Given the description of an element on the screen output the (x, y) to click on. 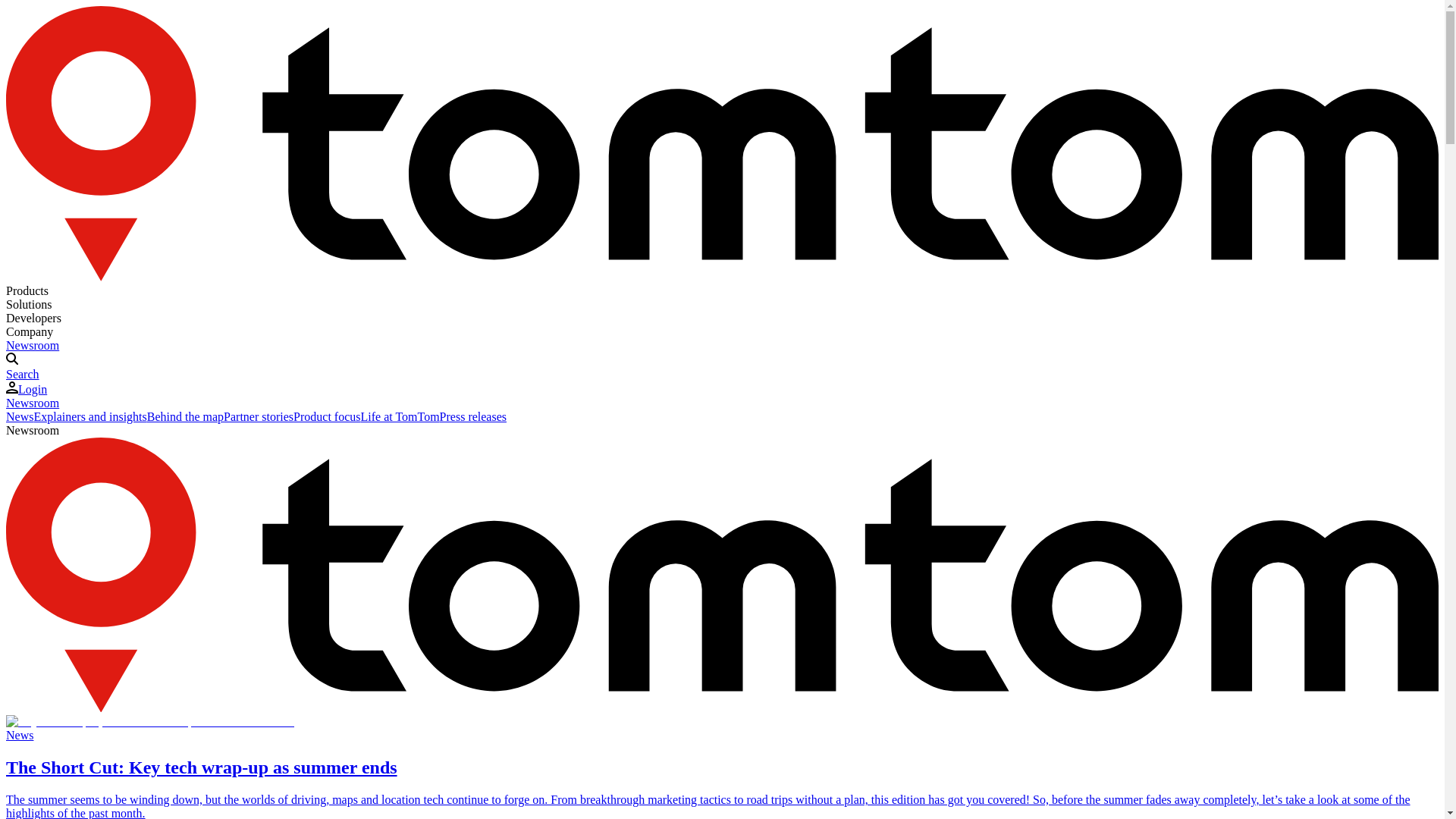
Life at TomTom (399, 416)
Behind the map (185, 416)
Newsroom (32, 402)
Explainers and insights (90, 416)
Product focus (326, 416)
Partner stories (259, 416)
News (19, 416)
Login (25, 389)
Press releases (472, 416)
